Given the description of an element on the screen output the (x, y) to click on. 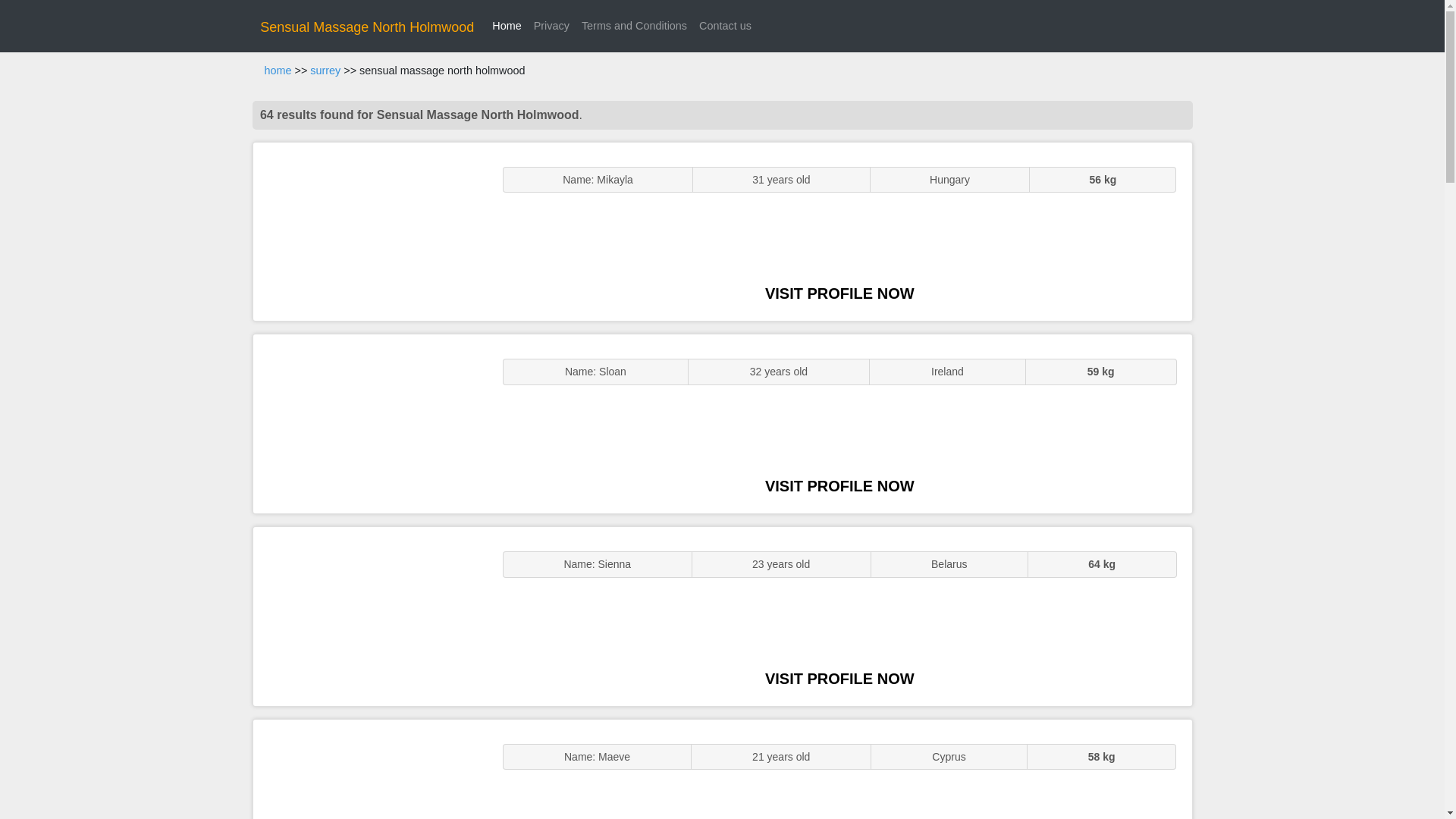
 ENGLISH STUNNER (370, 231)
Sexy (370, 616)
Privacy (551, 25)
VISIT PROFILE NOW (839, 485)
surrey (325, 70)
VISIT PROFILE NOW (839, 678)
Contact us (725, 25)
Sluts (370, 769)
VISIT PROFILE NOW (839, 293)
home (277, 70)
